Given the description of an element on the screen output the (x, y) to click on. 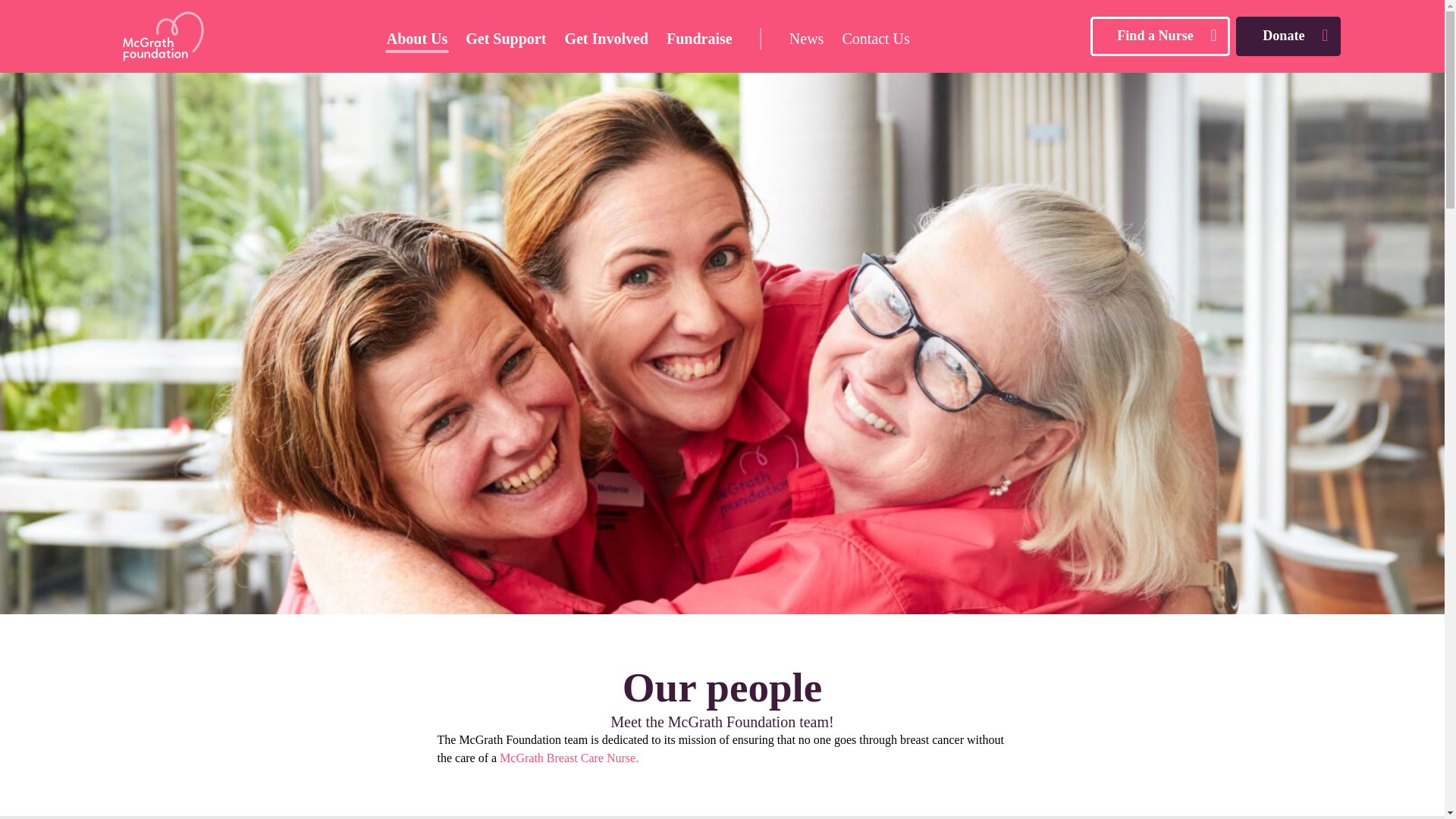
Fundraise (699, 36)
Get Support (505, 36)
About Us (417, 36)
Get Involved (606, 36)
